Given the description of an element on the screen output the (x, y) to click on. 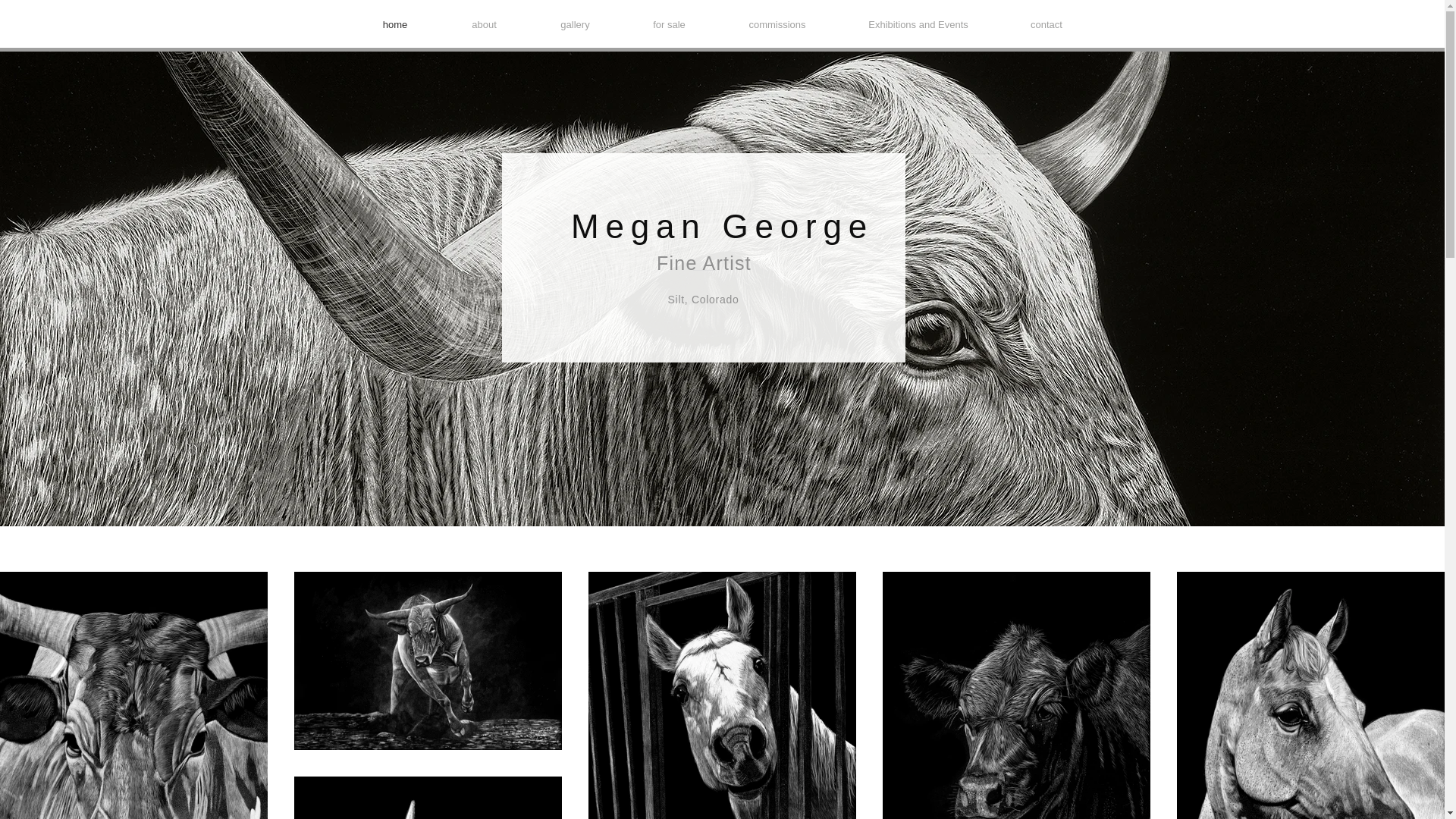
Exhibitions and Events (917, 25)
gallery (575, 25)
home (394, 25)
home (279, 38)
about (337, 38)
contact (1046, 25)
for sale (669, 25)
about (484, 25)
commissions (777, 25)
